Given the description of an element on the screen output the (x, y) to click on. 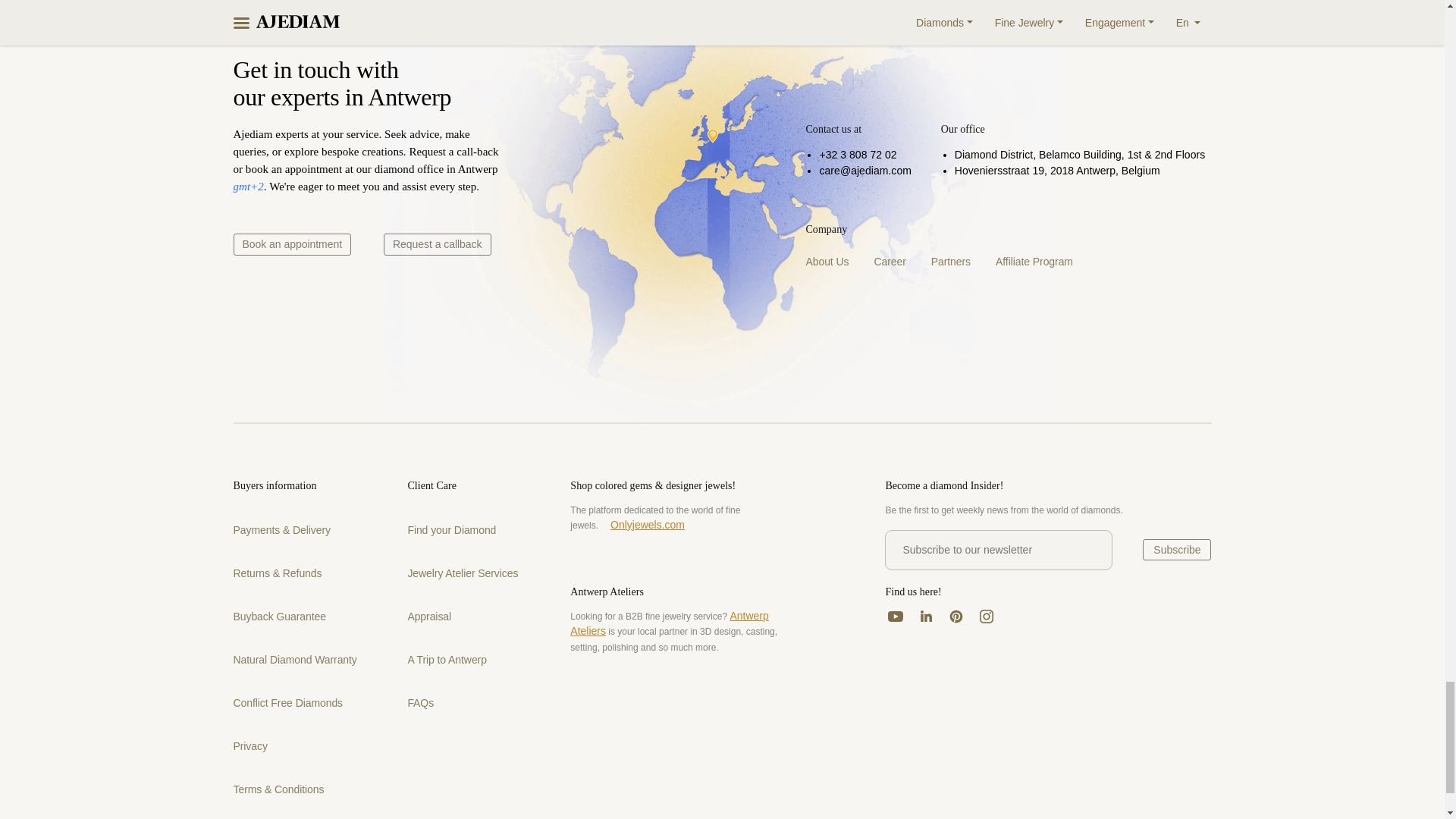
Subscribe (1176, 549)
